Given the description of an element on the screen output the (x, y) to click on. 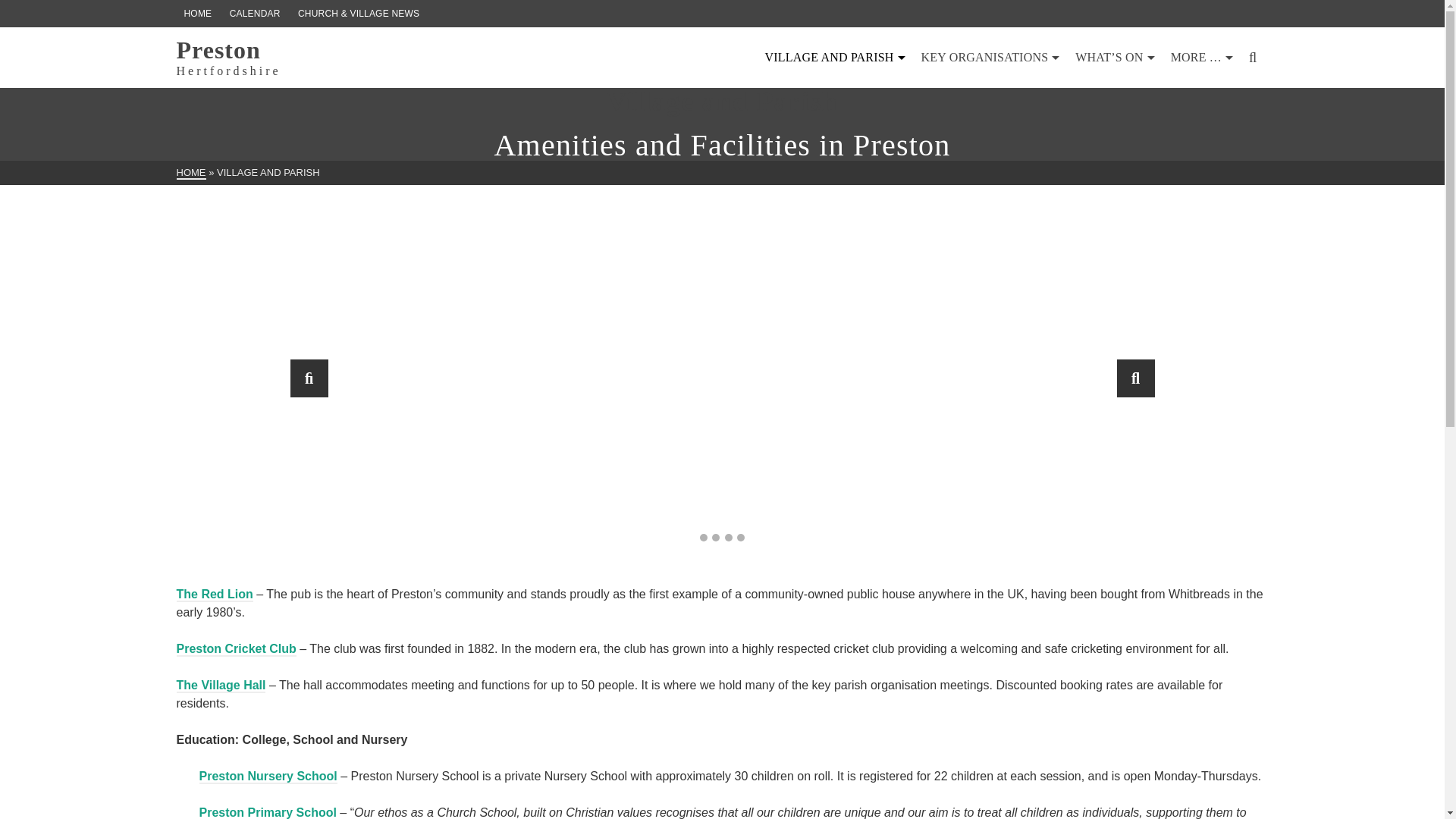
CALENDAR (255, 13)
HOME (190, 173)
KEY ORGANISATIONS (991, 57)
VILLAGE AND PARISH (834, 57)
HOME (228, 57)
